Given the description of an element on the screen output the (x, y) to click on. 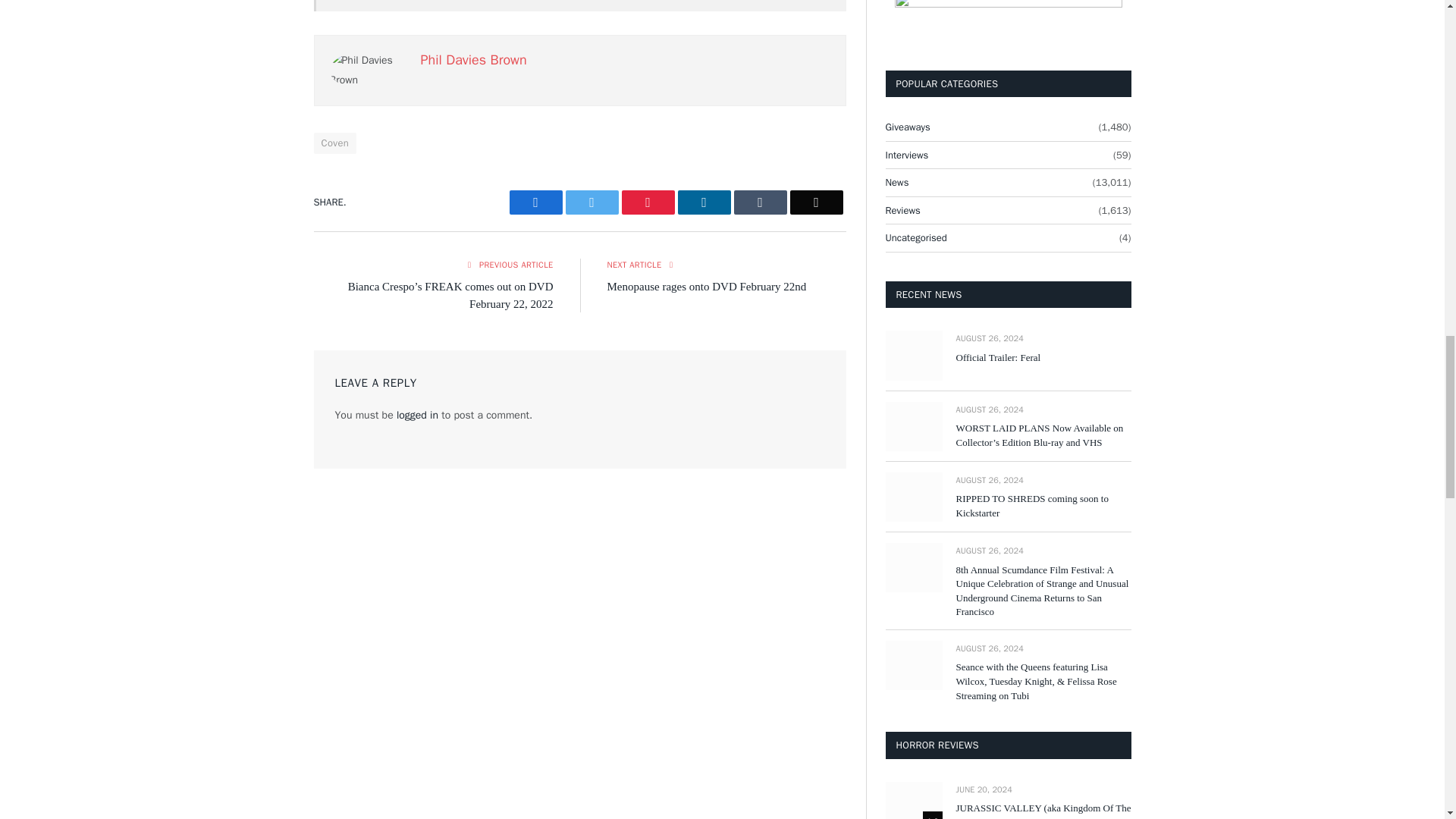
Share via Email (816, 202)
Official Trailer: Feral (913, 355)
Share on Pinterest (648, 202)
Share on Twitter (535, 202)
Share on Twitter (592, 202)
Phil Davies Brown (472, 59)
Share on Tumblr (760, 202)
Share on LinkedIn (704, 202)
